Given the description of an element on the screen output the (x, y) to click on. 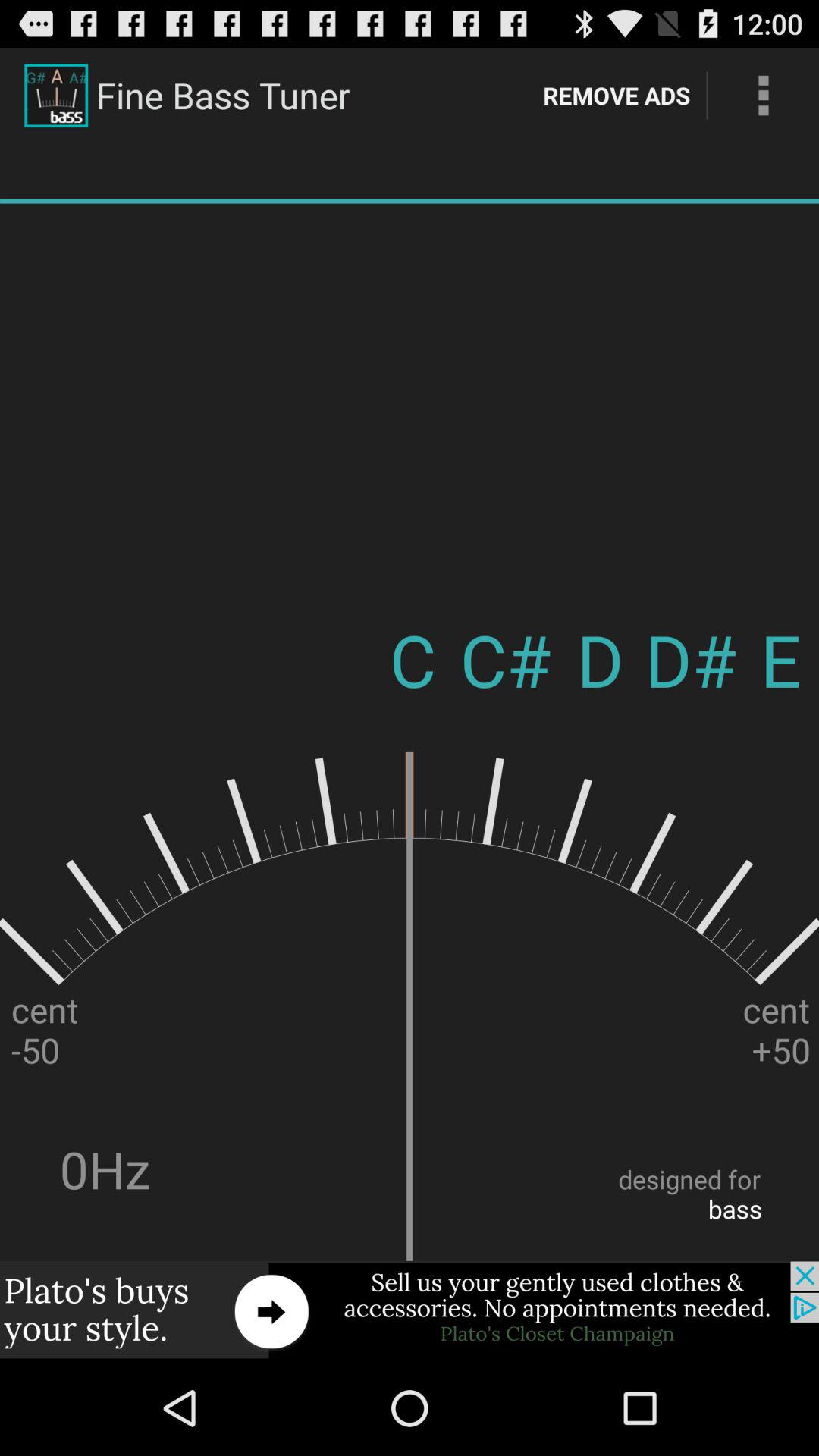
click on advertisement (409, 1310)
